Given the description of an element on the screen output the (x, y) to click on. 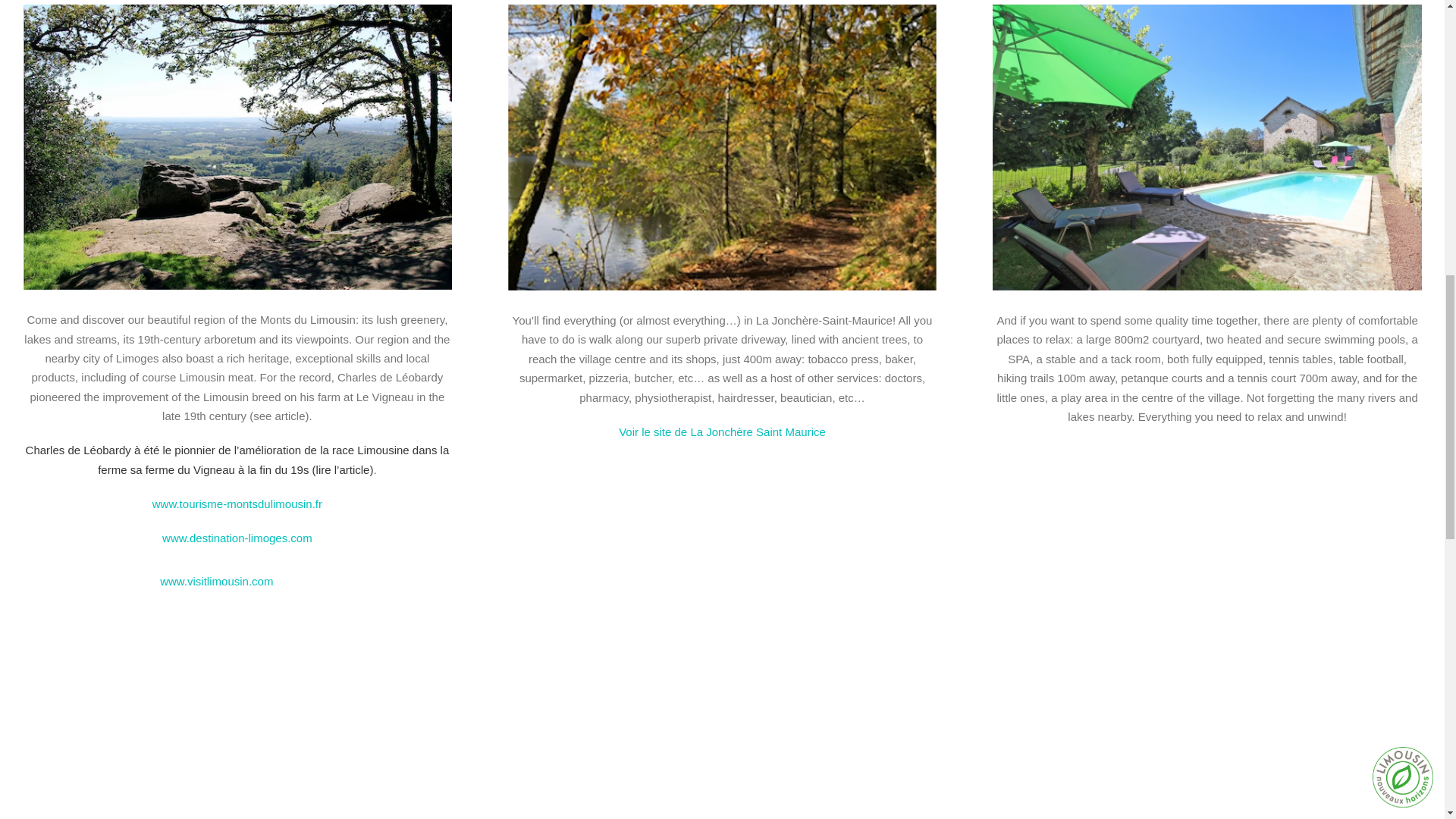
www.tourisme-montsdulimousin.fr (236, 503)
www.destination-limoges.com (237, 537)
Image111 (722, 725)
www.visitlimousin.com (237, 581)
pierre branlante (237, 146)
erwan fiquet (1207, 725)
p2228 (722, 147)
